Given the description of an element on the screen output the (x, y) to click on. 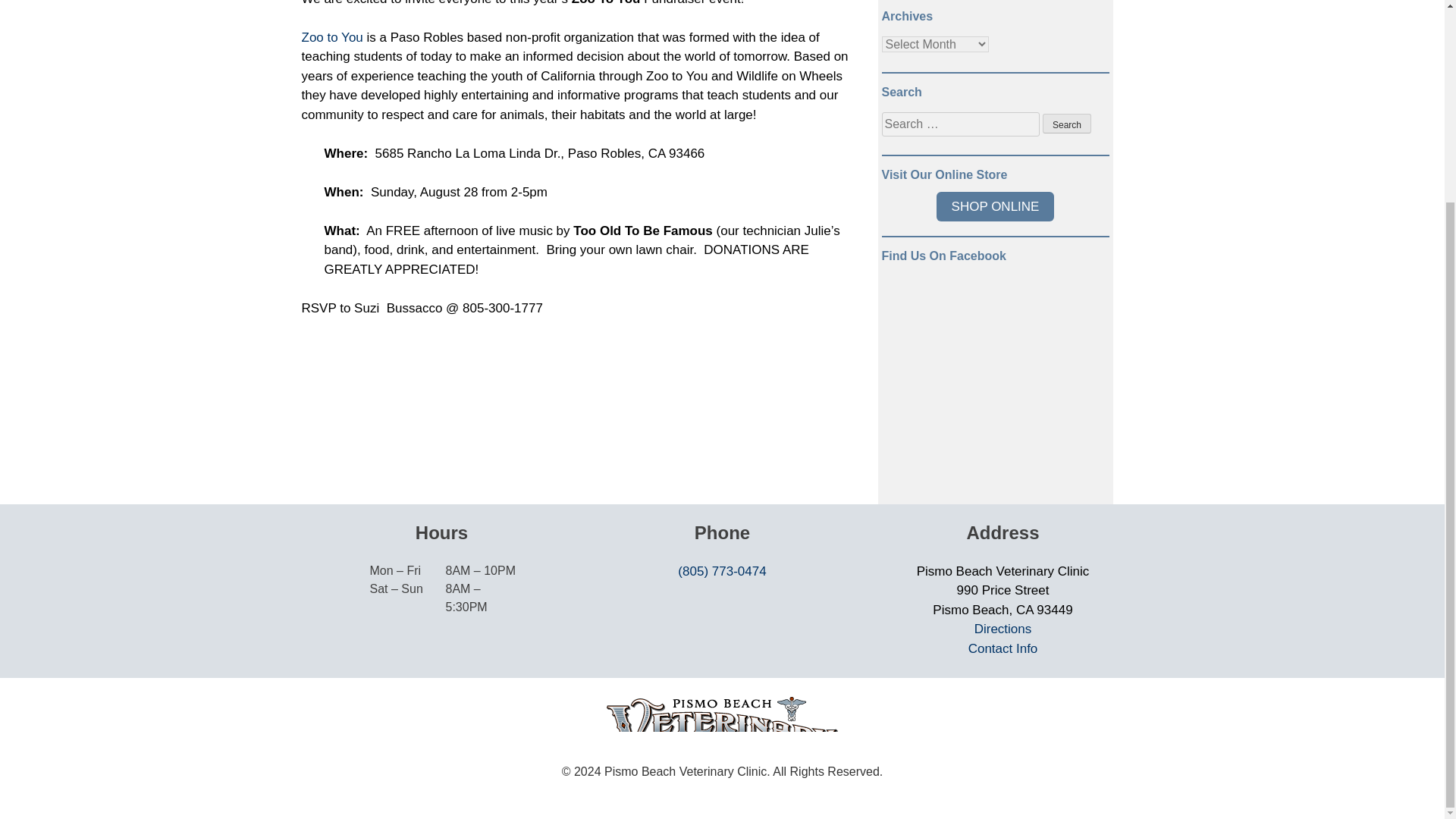
Zoo to You (331, 37)
Search (1066, 123)
Zoo to You (331, 37)
Contact Info (1003, 648)
Directions (1003, 628)
Search (1066, 123)
SHOP ONLINE (995, 206)
Search (1066, 123)
